Given the description of an element on the screen output the (x, y) to click on. 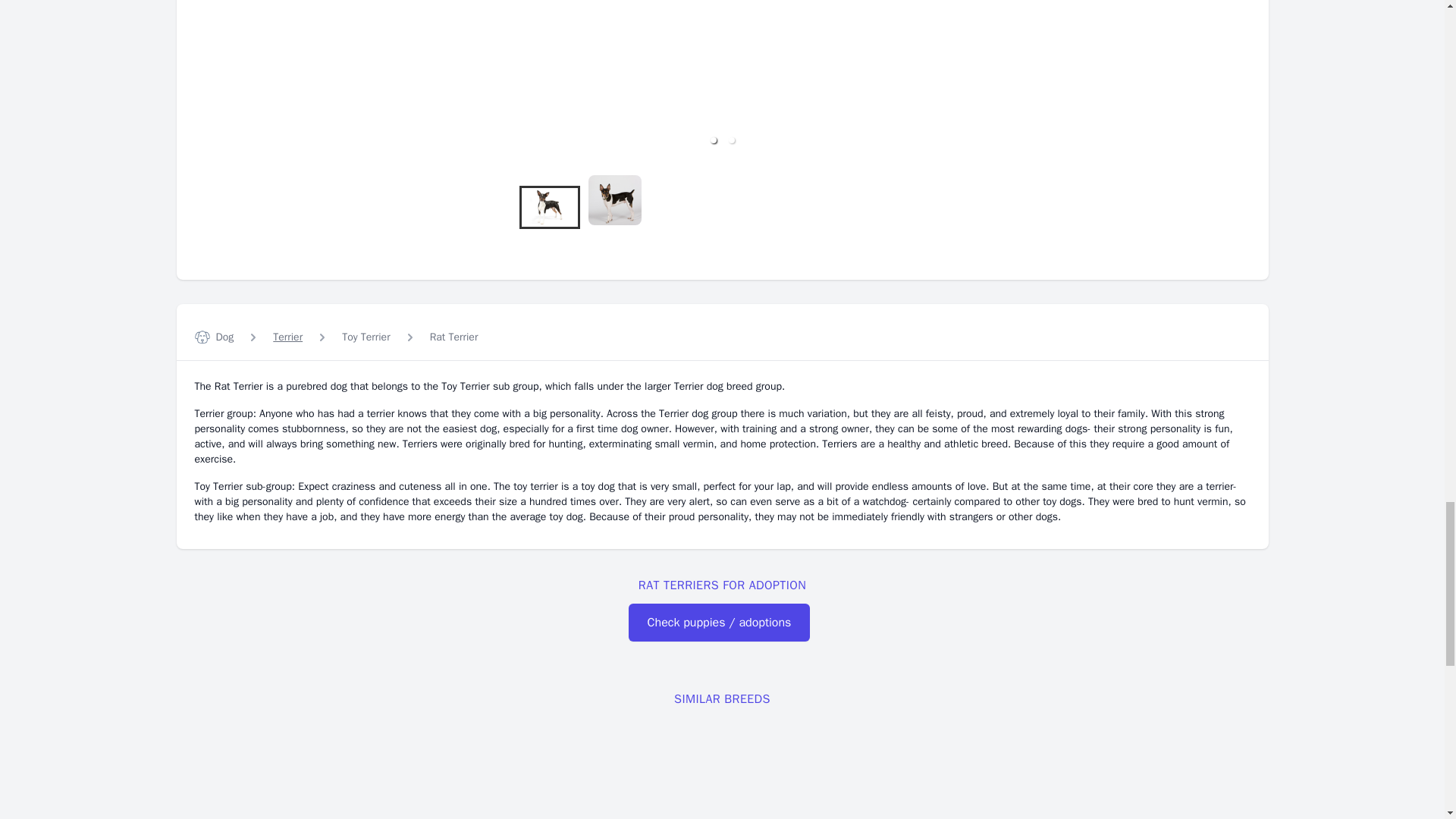
Terrier (287, 337)
